Given the description of an element on the screen output the (x, y) to click on. 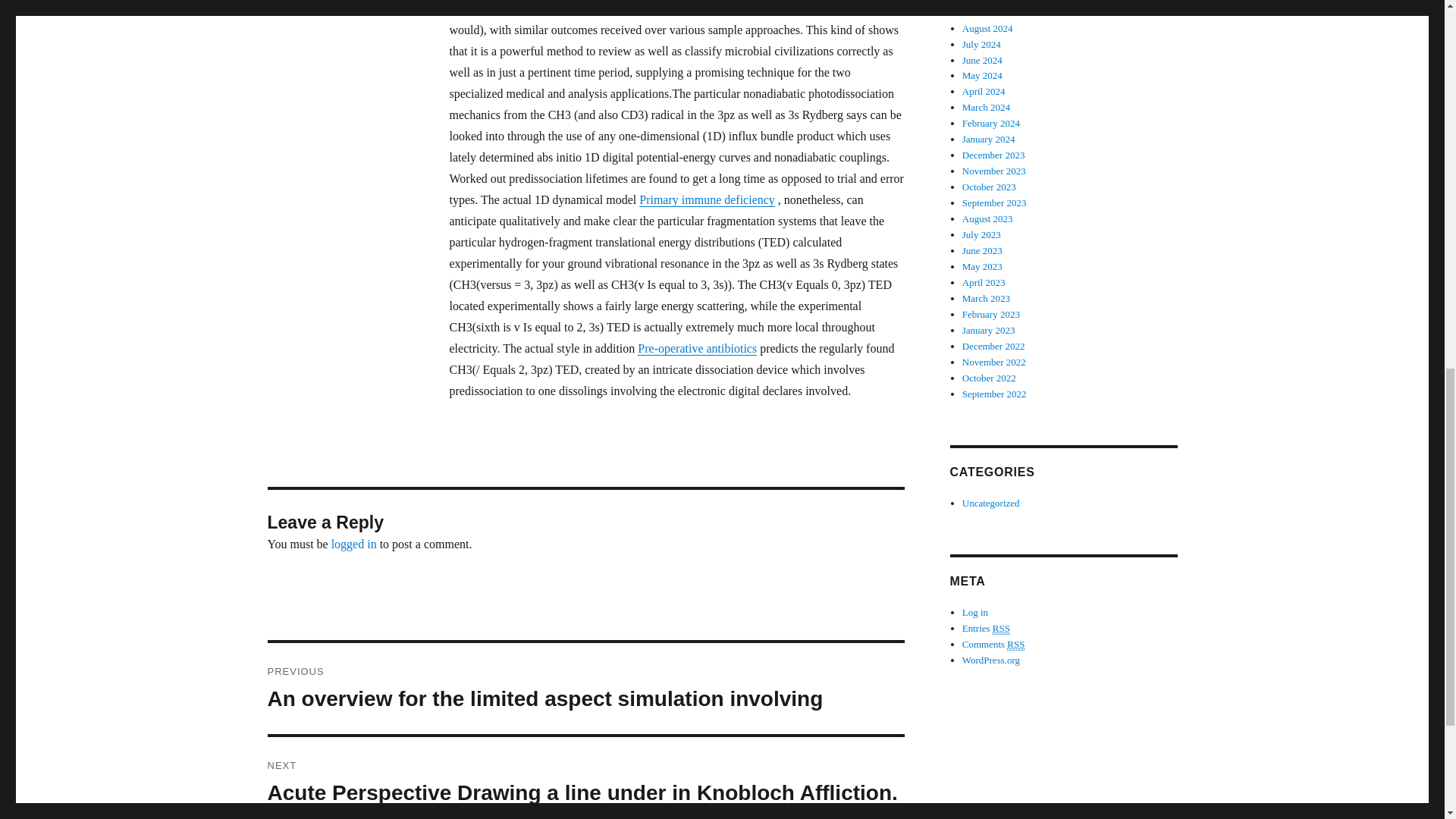
Primary immune deficiency (706, 199)
June 2024 (982, 60)
August 2024 (987, 28)
Pre-operative antibiotics (697, 348)
July 2024 (981, 43)
March 2024 (986, 107)
Really Simple Syndication (1016, 644)
